Given the description of an element on the screen output the (x, y) to click on. 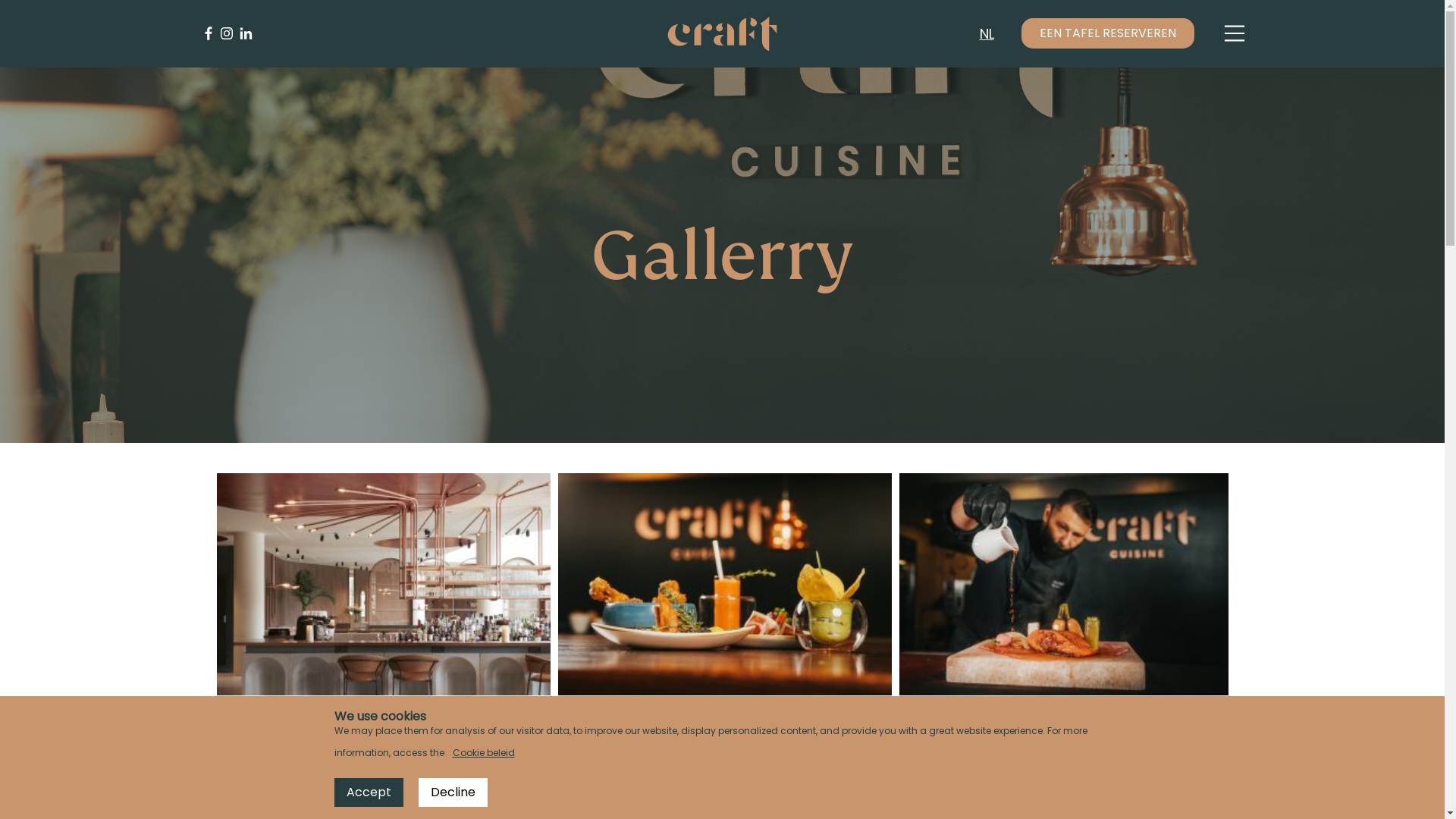
Accept Element type: text (367, 792)
Decline Element type: text (452, 792)
Crown Plaza shoot Element type: hover (724, 583)
EEN TAFEL RESERVEREN Element type: text (1106, 33)
21-07-23 Crowne Plaza 039039-retouche Element type: hover (383, 583)
Cookie beleid Element type: text (482, 752)
Crown Plaza shoot Element type: hover (1063, 583)
